Given the description of an element on the screen output the (x, y) to click on. 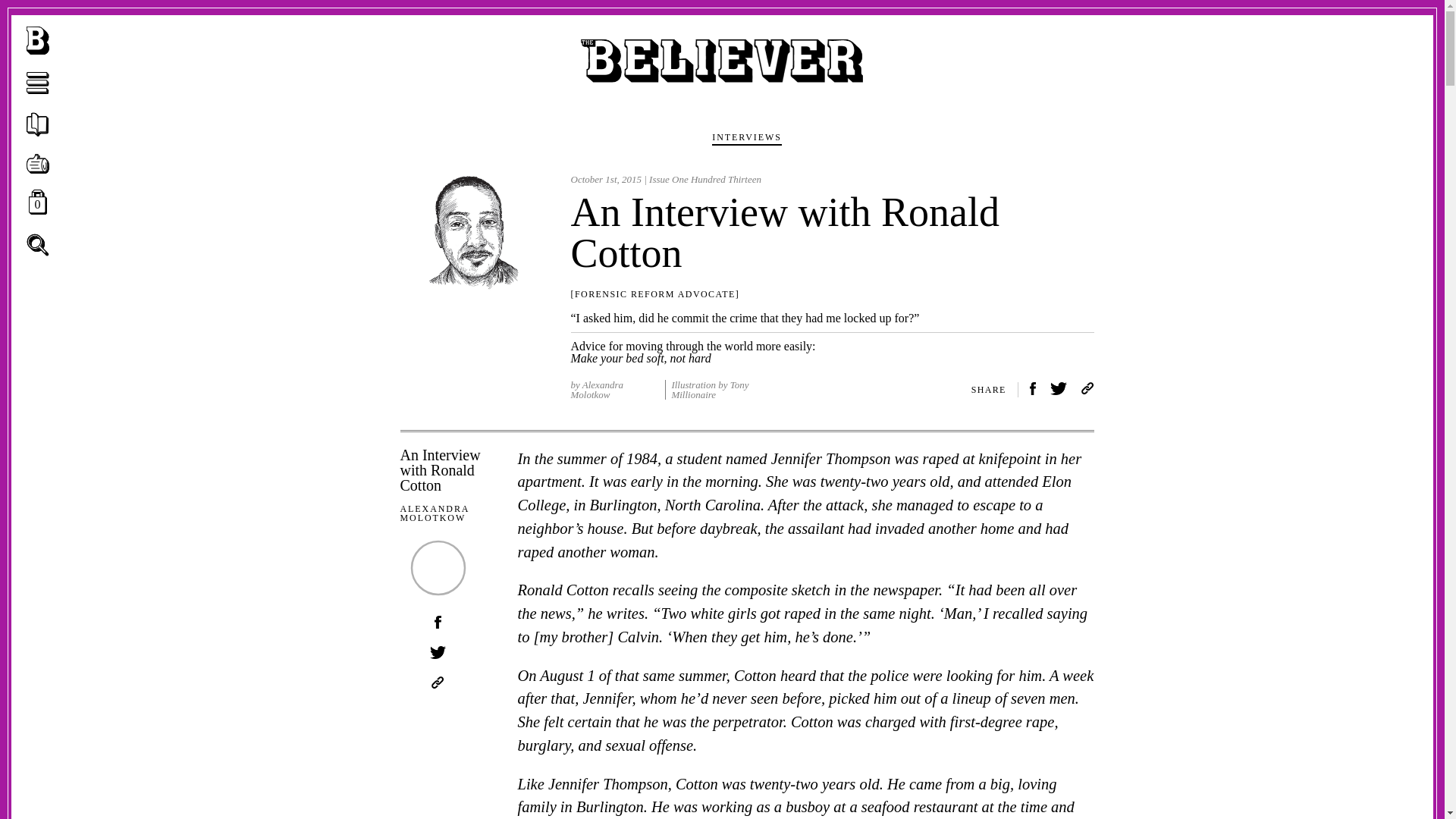
Tweet this! (437, 653)
Tweet this! (37, 245)
Search (1058, 390)
hamburger (37, 164)
Discover (37, 244)
logger (37, 83)
